Given the description of an element on the screen output the (x, y) to click on. 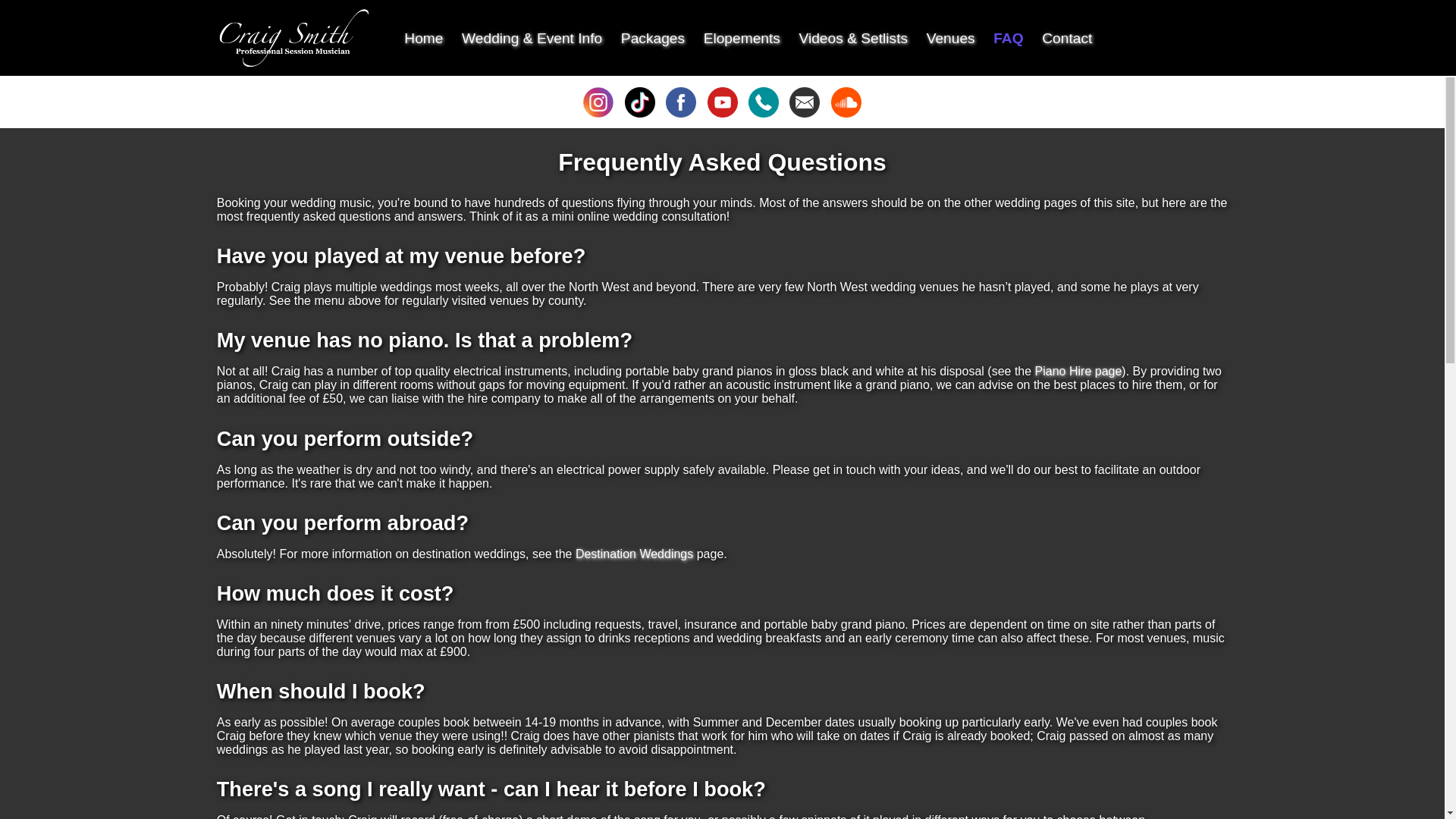
Venues (950, 37)
Soundcloud: audio of Craig performing... (846, 113)
Elopements (741, 37)
Email Craig... (804, 113)
contact Craig (1067, 37)
Phone Craig... (763, 113)
Piano Hire page (1078, 370)
Home (423, 37)
Wedding Music Frequently Asked Questions (1007, 37)
FAQ (1007, 37)
